Given the description of an element on the screen output the (x, y) to click on. 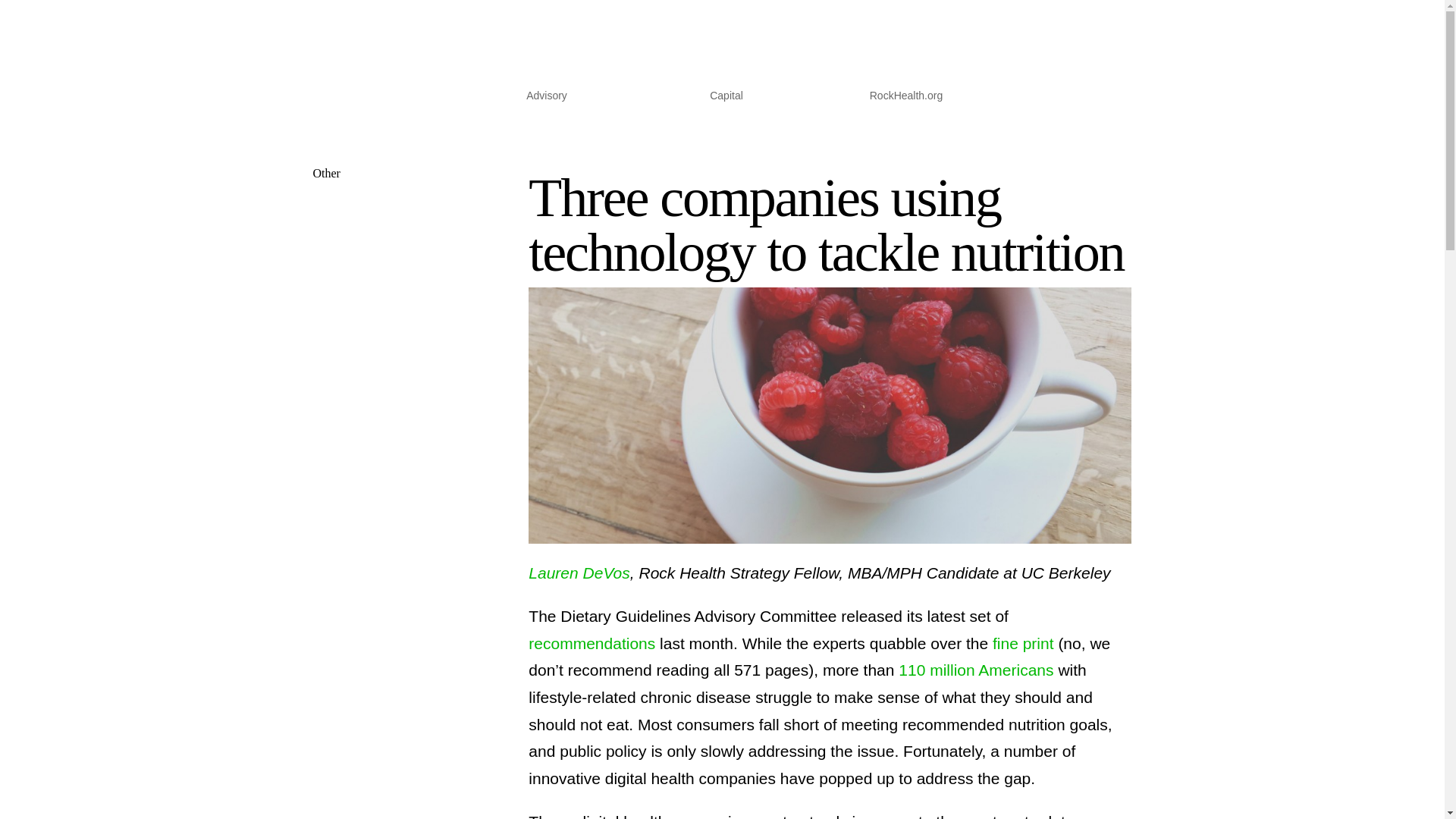
110 million Americans (972, 669)
RockHealth.org (906, 98)
Capital (726, 98)
recommendations (591, 642)
fine print (1023, 642)
Advisory (546, 98)
Lauren DeVos (578, 572)
